Given the description of an element on the screen output the (x, y) to click on. 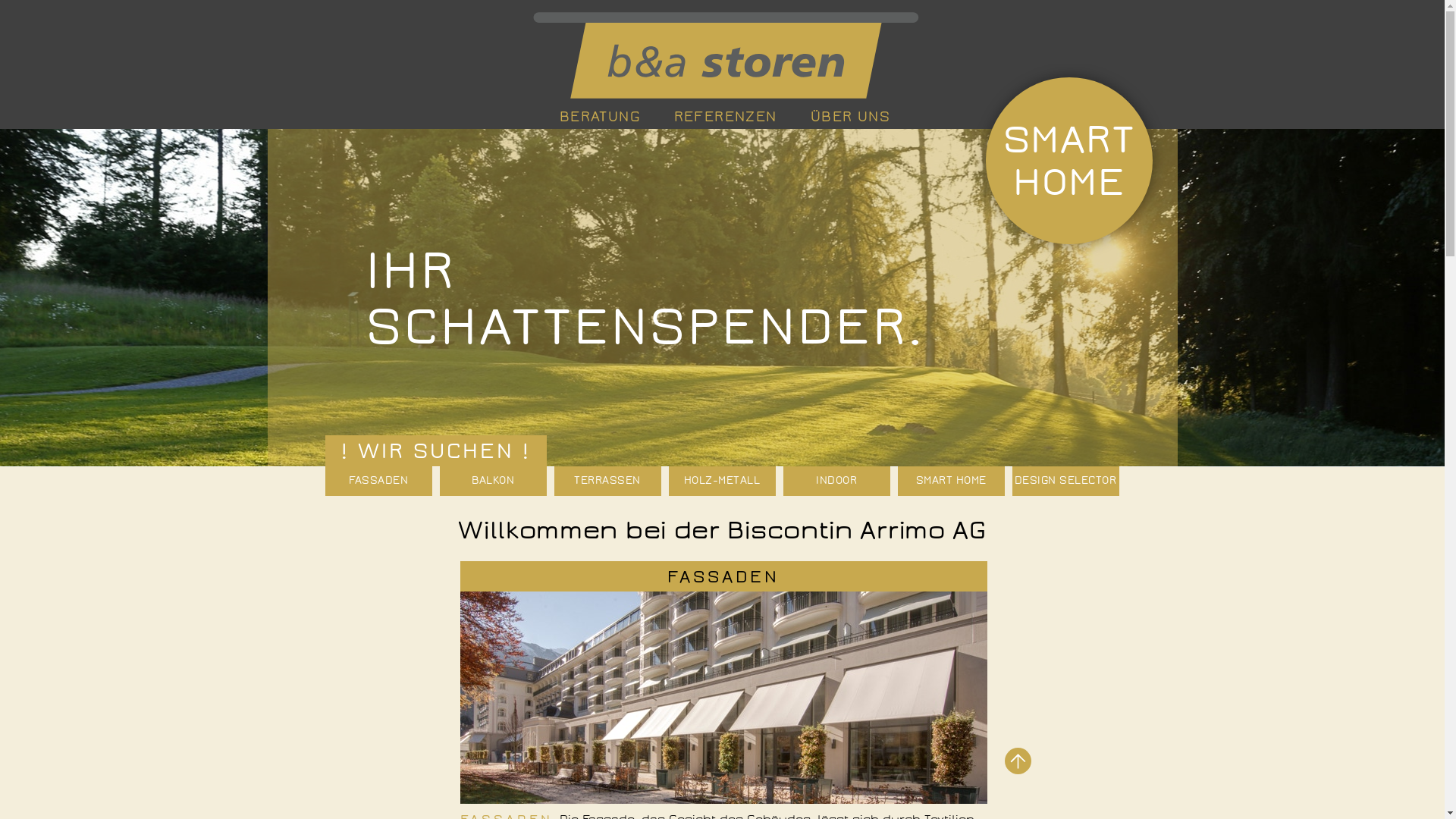
  Element type: text (1017, 760)
! WIR SUCHEN ! Element type: text (435, 450)
FASSADEN Element type: text (722, 576)
  Element type: text (722, 55)
